Given the description of an element on the screen output the (x, y) to click on. 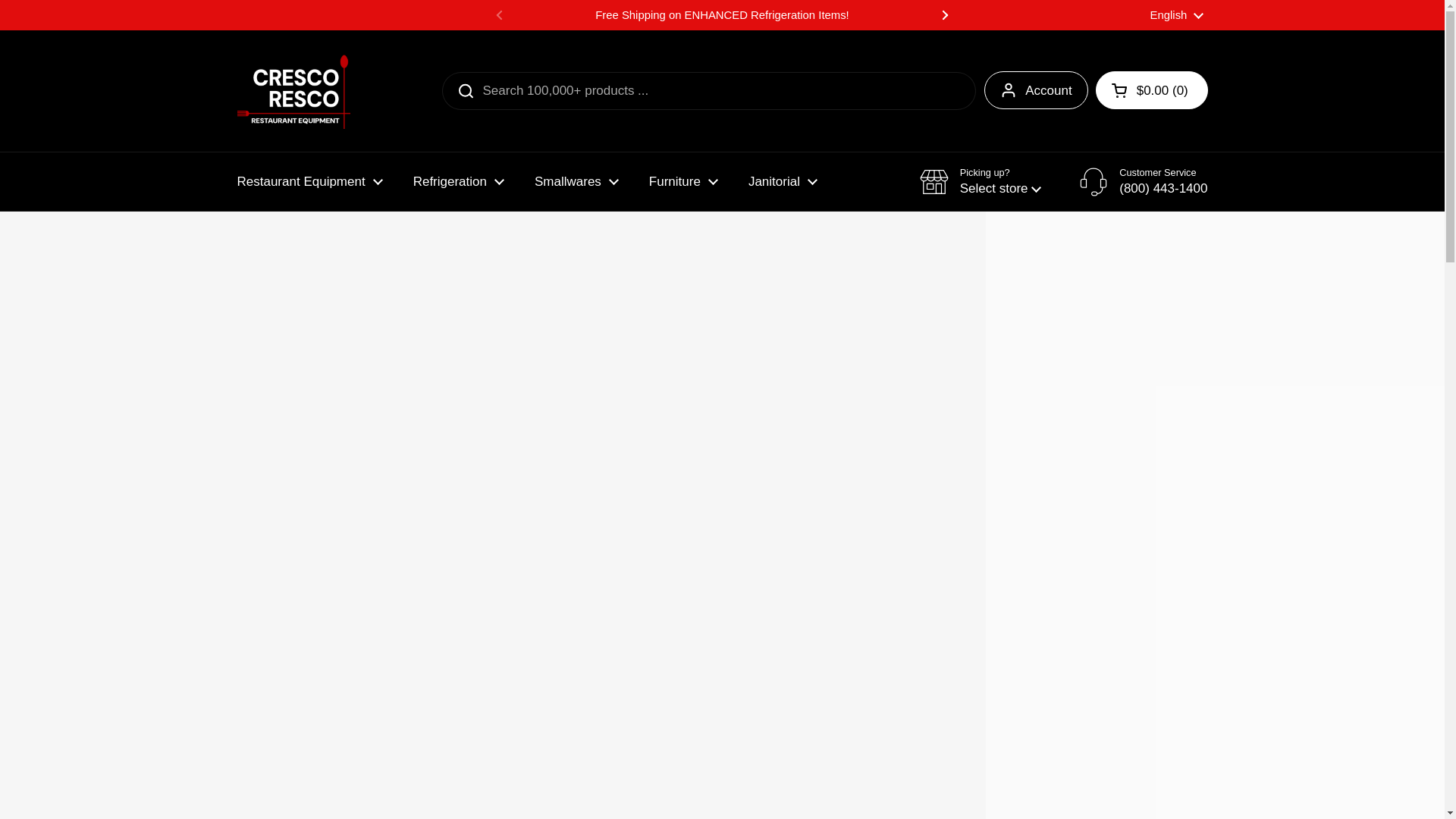
English (1177, 14)
Restaurant Equipment (309, 181)
Restaurant Equipment (309, 181)
Open cart (1152, 89)
Free Shipping on ENHANCED Refrigeration Items! (721, 15)
Account (1035, 89)
